Given the description of an element on the screen output the (x, y) to click on. 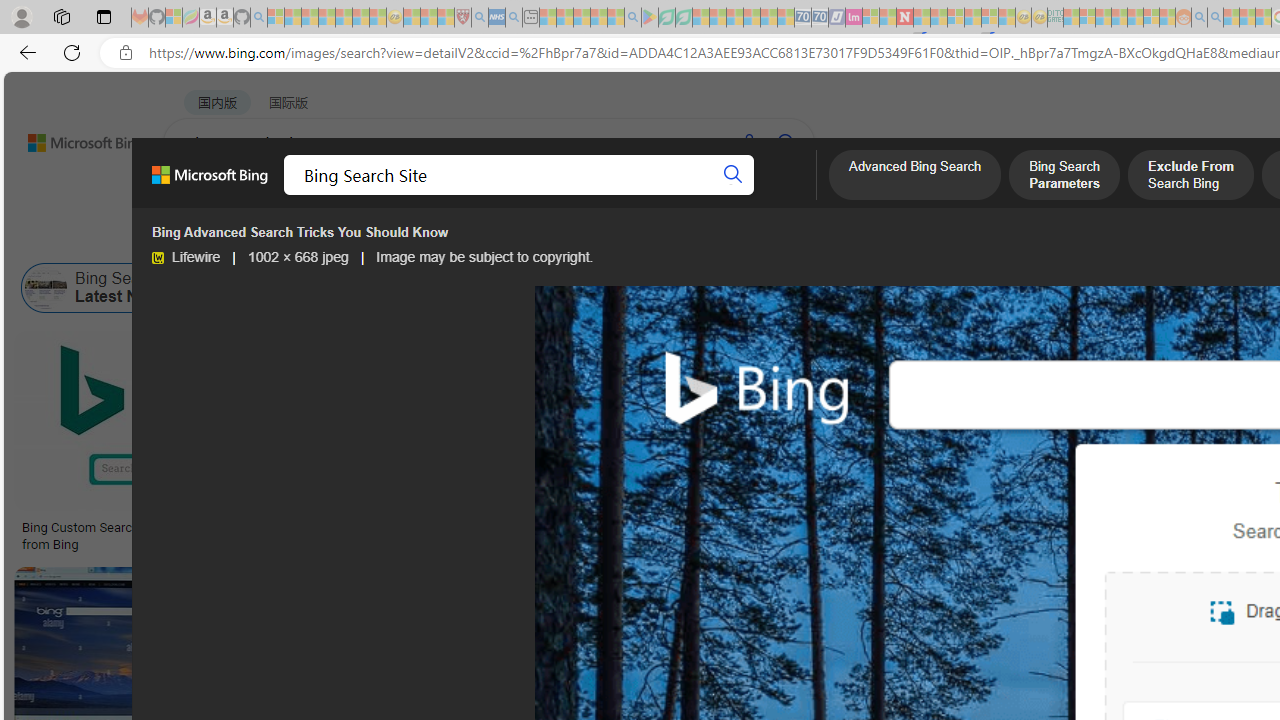
Bing Search Parameters (1064, 177)
Bing Advanced Search Tricks You Should KnowSave (813, 444)
Show Bing Search Engine (811, 287)
Lifewire (157, 257)
MY BING (276, 195)
Bing Advanced Search Tricks You Should Know (810, 528)
Bing Custom Search: A New Site Search Solution from Bing (169, 535)
